Given the description of an element on the screen output the (x, y) to click on. 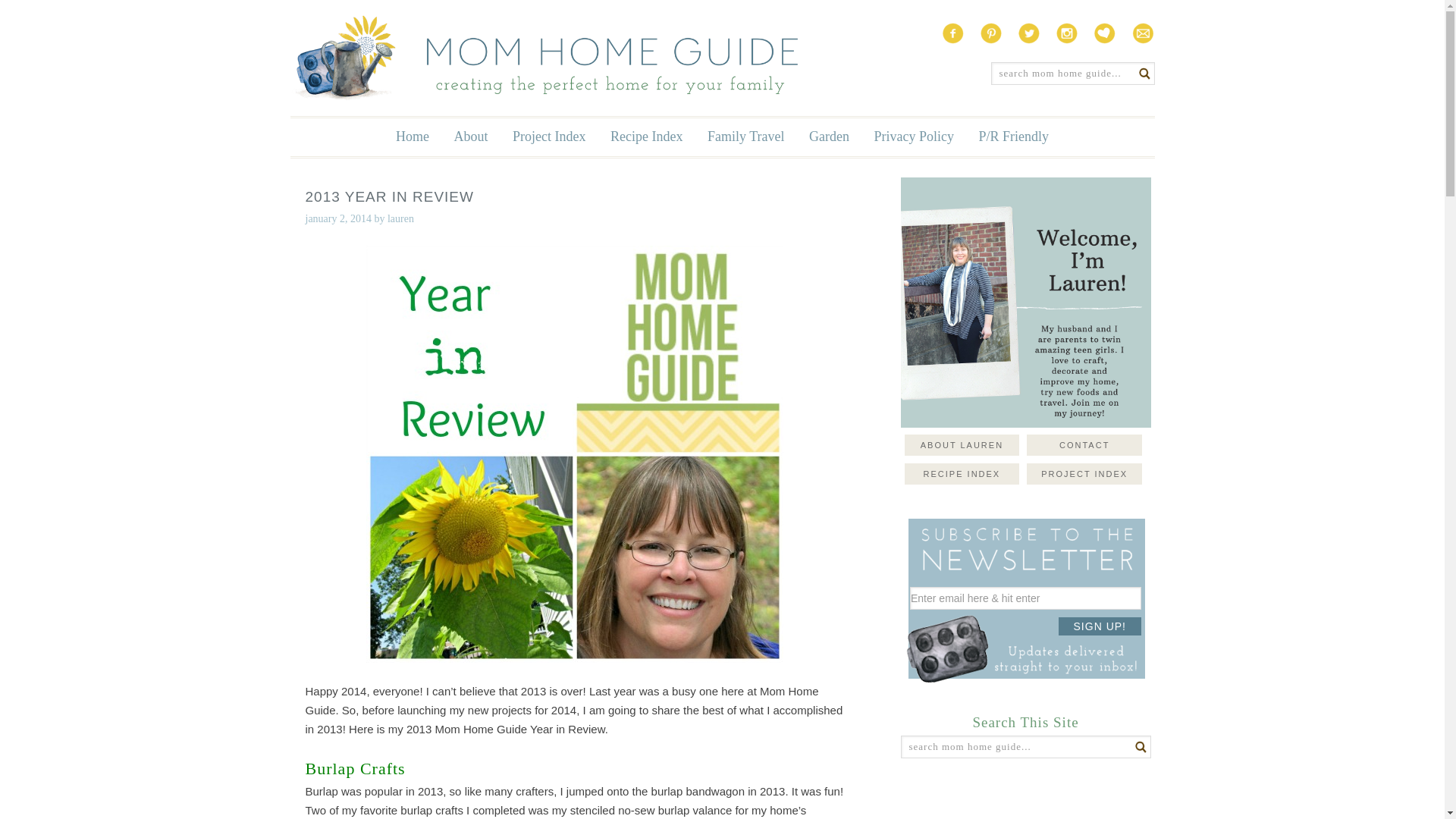
Family Travel (745, 136)
Recipe Index (646, 136)
Garden (828, 136)
Sign Up! (1099, 626)
Project Index (548, 136)
About (471, 136)
Privacy Policy (913, 136)
MOMHOMEGUIDE.COM (542, 57)
Home (412, 136)
lauren (400, 218)
